Given the description of an element on the screen output the (x, y) to click on. 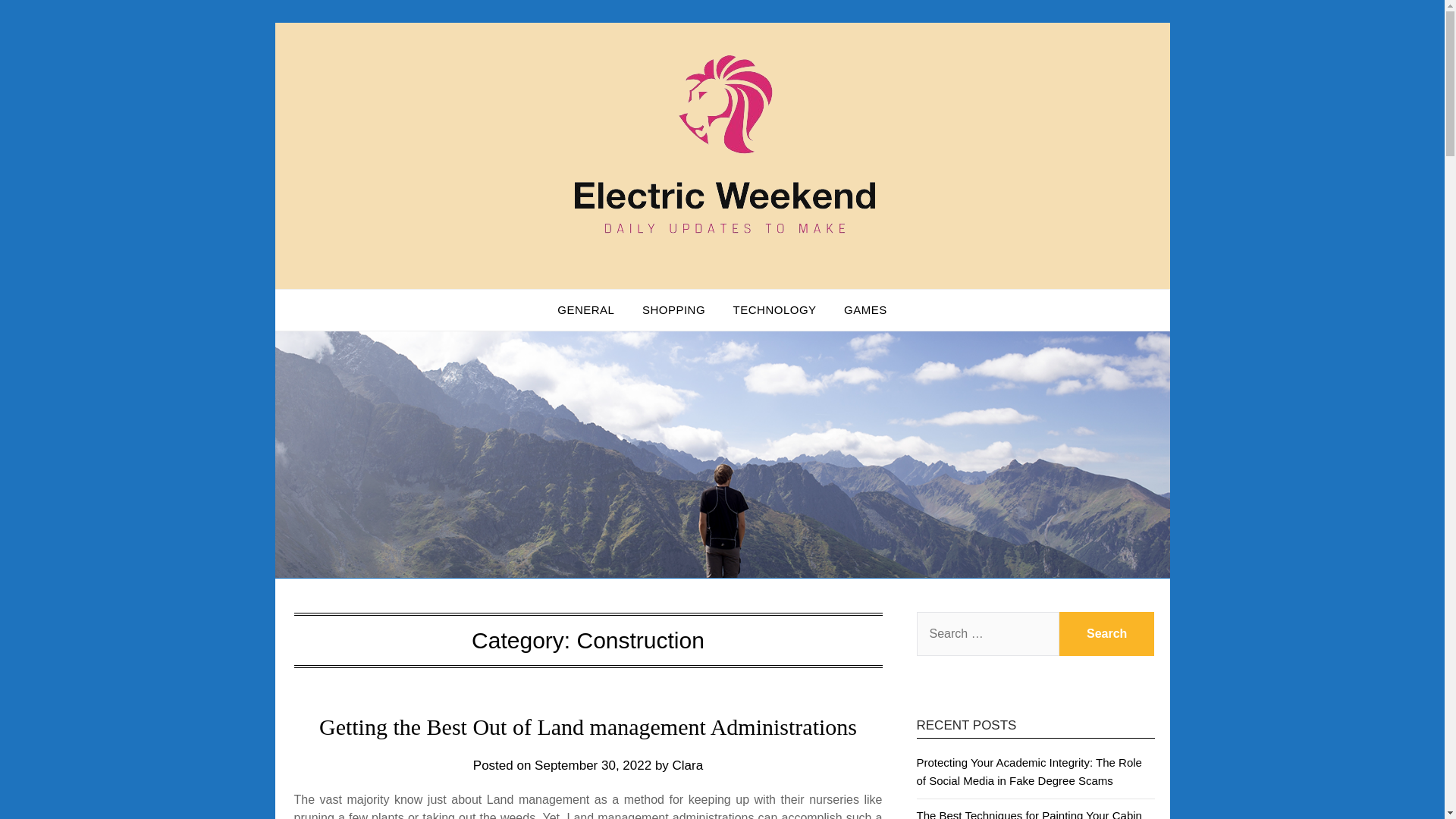
Clara (687, 765)
TECHNOLOGY (774, 309)
GAMES (865, 309)
GENERAL (585, 309)
Getting the Best Out of Land management Administrations (587, 726)
September 30, 2022 (592, 765)
Search (1106, 633)
SHOPPING (673, 309)
